Given the description of an element on the screen output the (x, y) to click on. 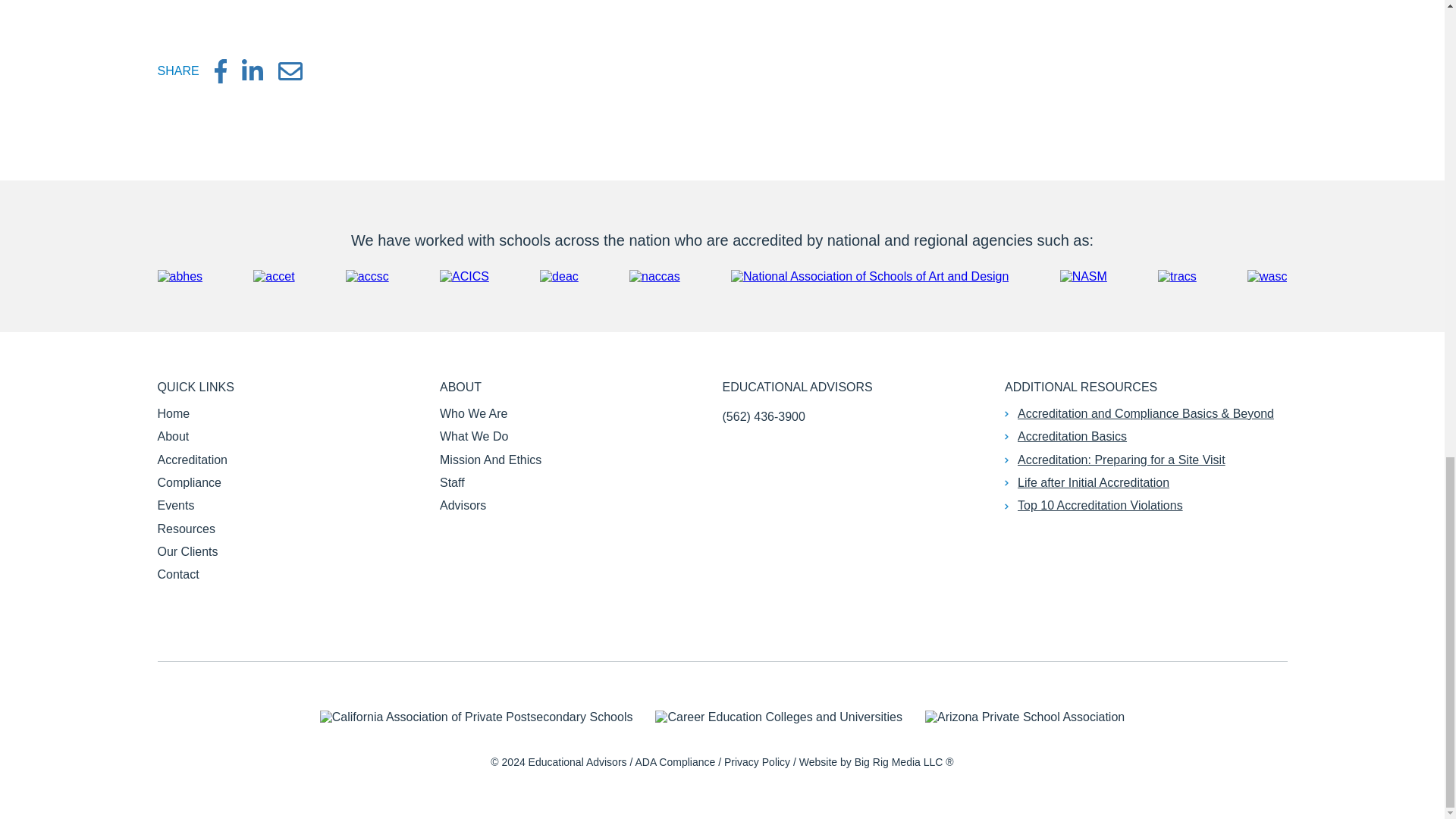
tracs (1176, 276)
wasc (1267, 276)
National Association of Schools of Art and Design (869, 276)
deac (559, 276)
accsc (367, 276)
accet (273, 276)
ACICS (464, 276)
naccas (653, 276)
abhes (180, 276)
